Given the description of an element on the screen output the (x, y) to click on. 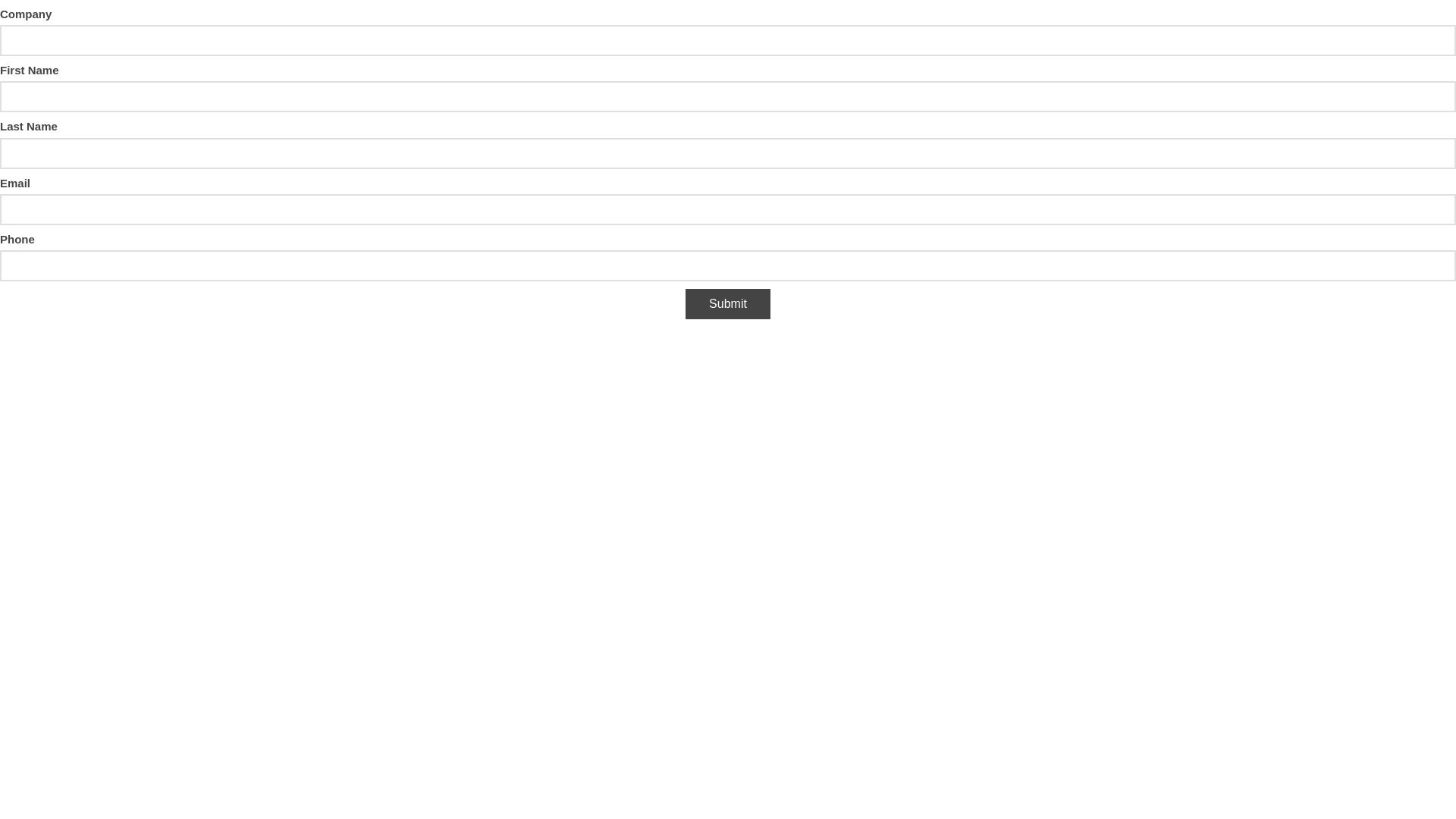
Submit Element type: text (727, 303)
